Given the description of an element on the screen output the (x, y) to click on. 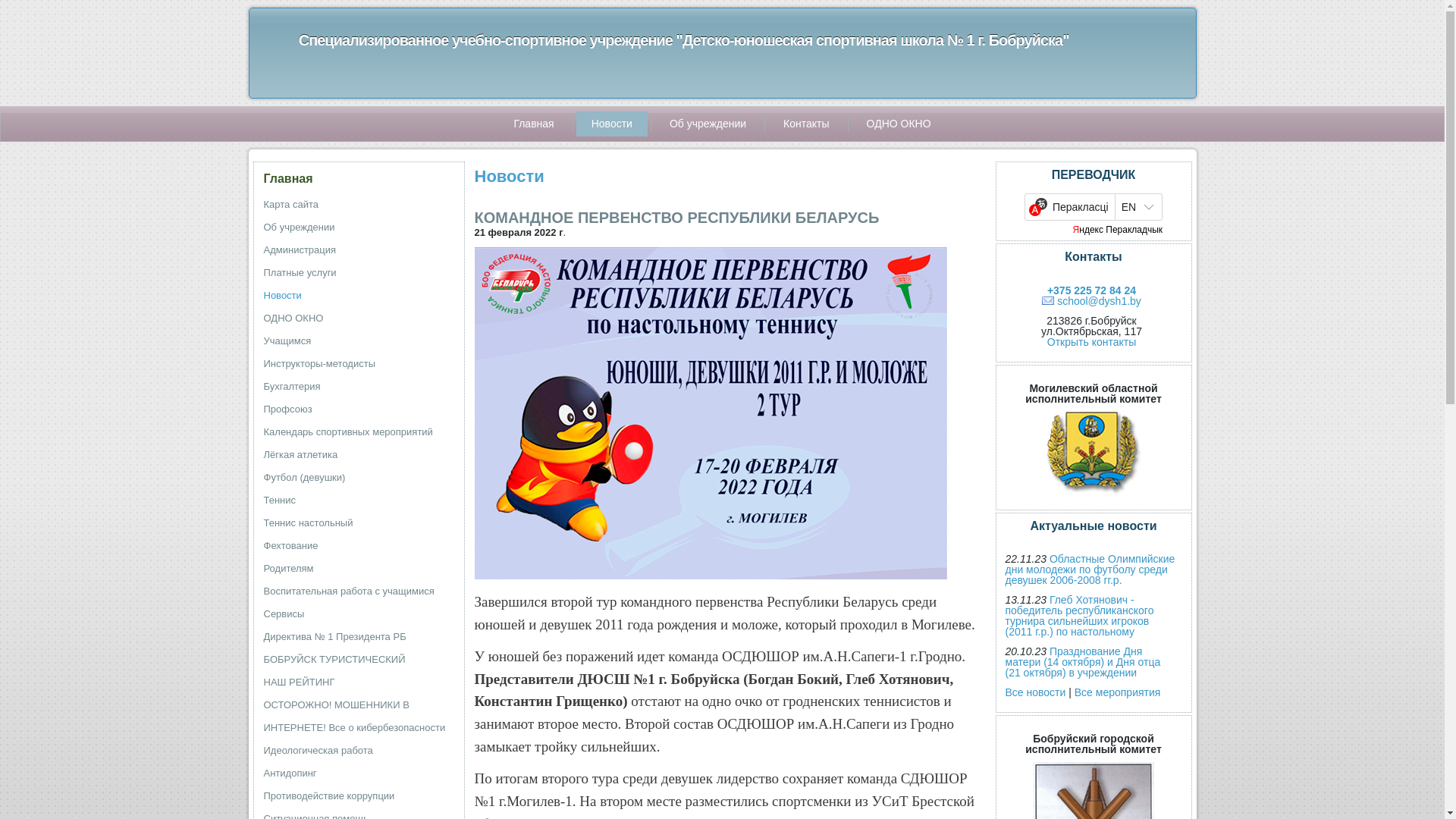
school@dysh1.by Element type: text (1091, 300)
+375 225 72 84 24 Element type: text (1091, 290)
